Given the description of an element on the screen output the (x, y) to click on. 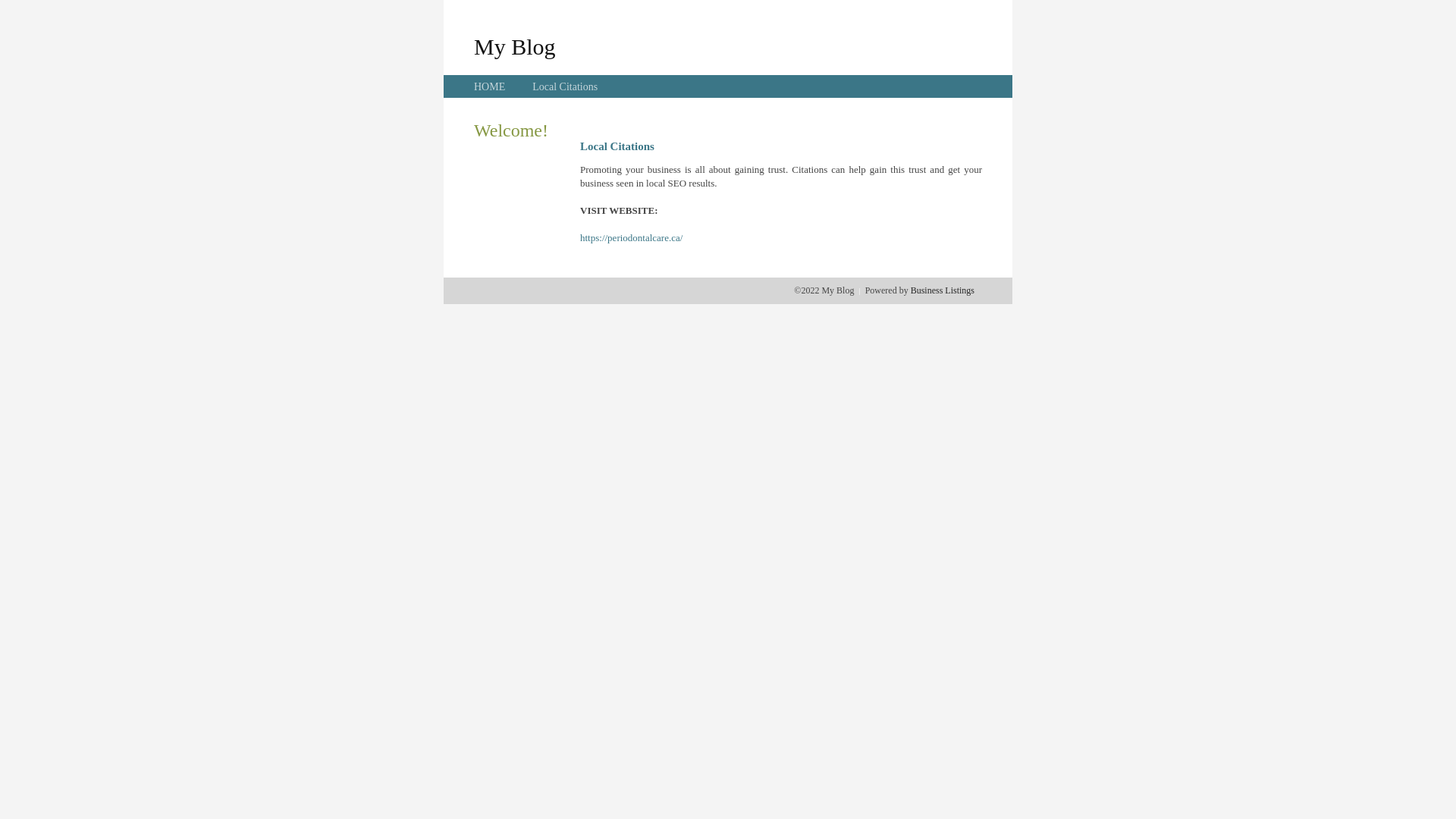
HOME Element type: text (489, 86)
https://periodontalcare.ca/ Element type: text (631, 237)
Business Listings Element type: text (942, 290)
My Blog Element type: text (514, 46)
Local Citations Element type: text (564, 86)
